Given the description of an element on the screen output the (x, y) to click on. 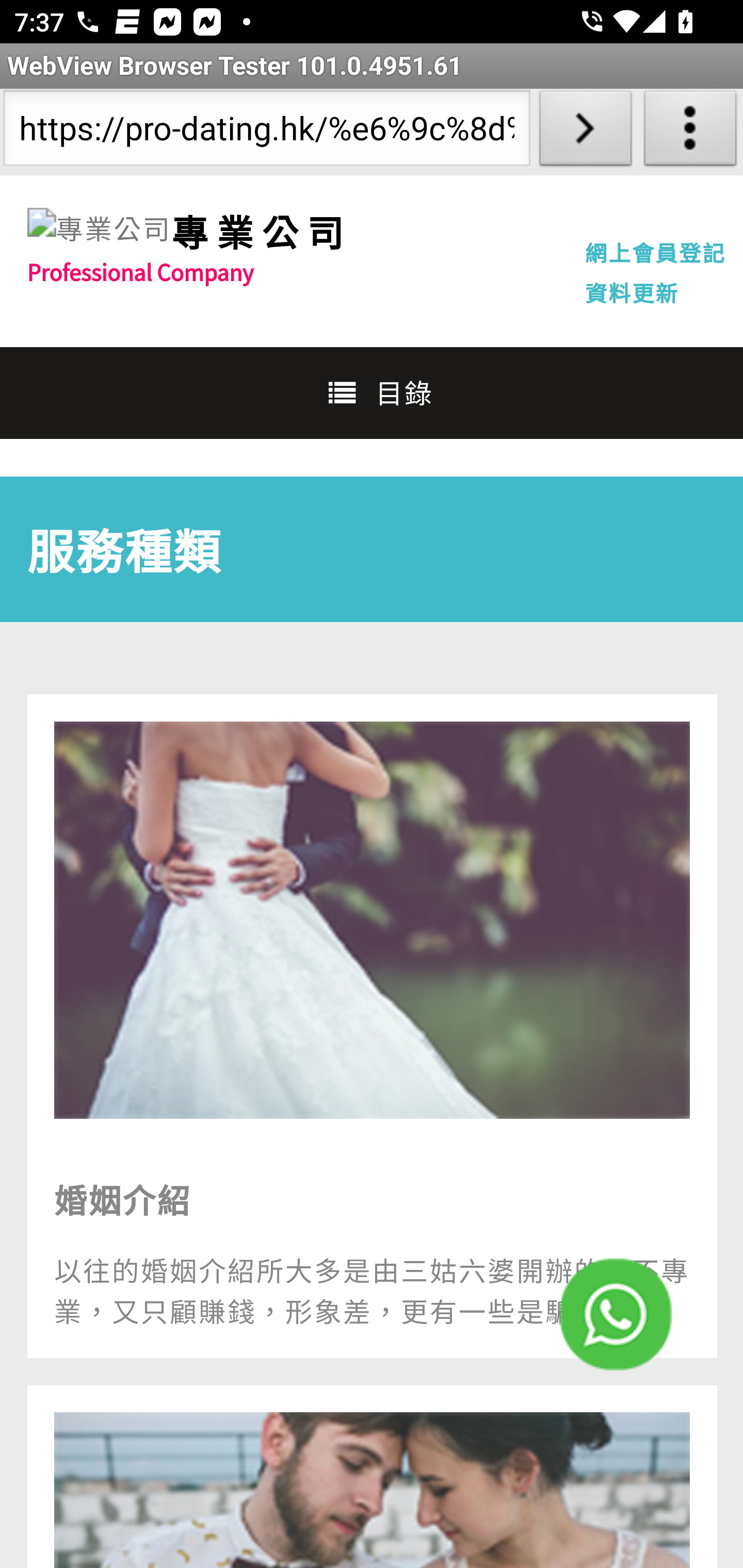
Load URL (585, 132)
About WebView (690, 132)
專業公司 (261, 230)
專業公司 (99, 228)
網上會員登記 (655, 251)
資料更新 (631, 292)
目錄  目錄 (371, 391)
sidewhatsapp (616, 1314)
